Given the description of an element on the screen output the (x, y) to click on. 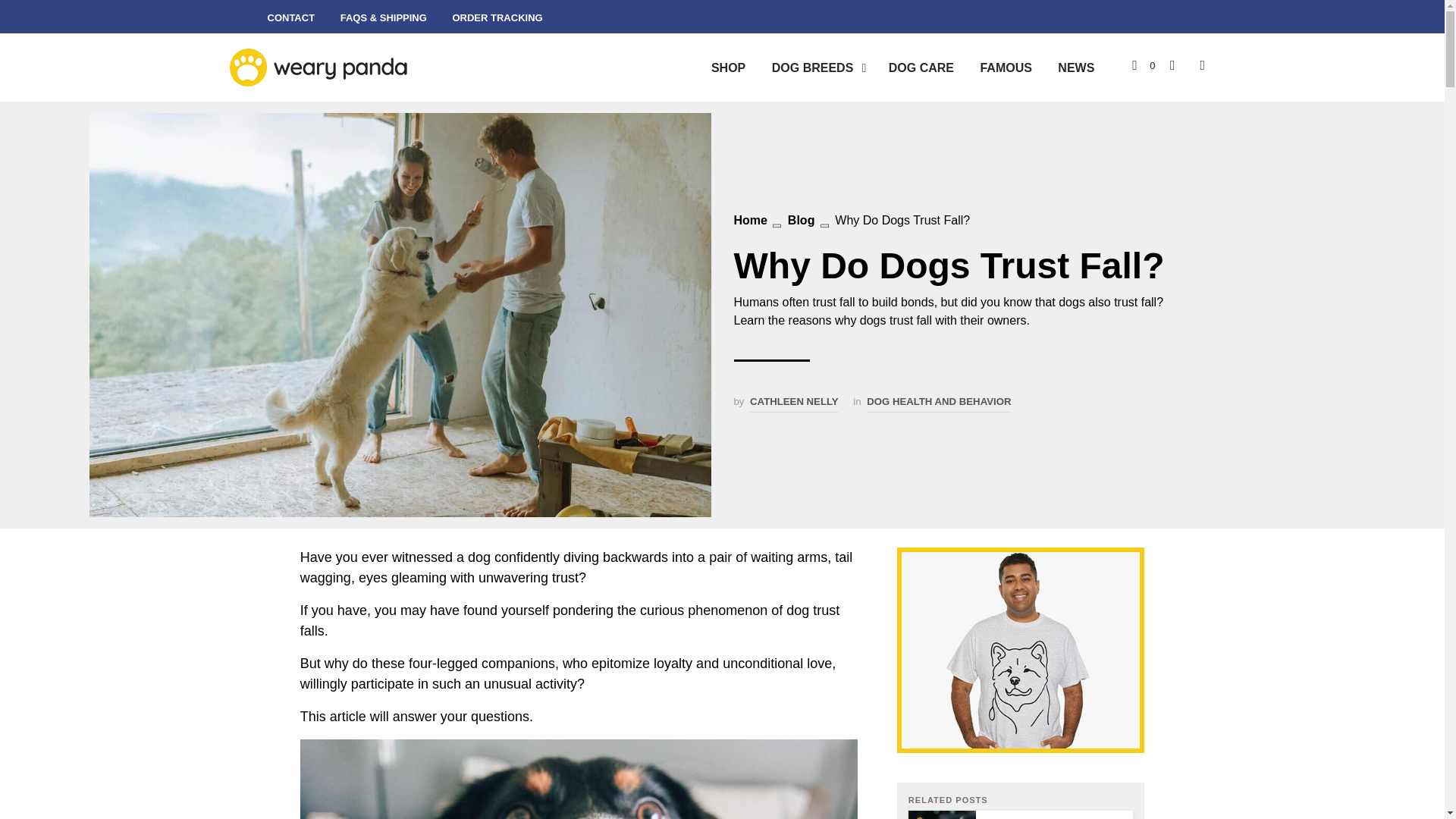
DOG HEALTH AND BEHAVIOR (938, 403)
Blog (801, 219)
DOG BREEDS (812, 67)
CONTACT (291, 17)
NEWS (1075, 67)
0 (1143, 65)
ORDER TRACKING (497, 17)
FAMOUS (1005, 67)
CATHLEEN NELLY (793, 403)
SHOP (728, 67)
